Given the description of an element on the screen output the (x, y) to click on. 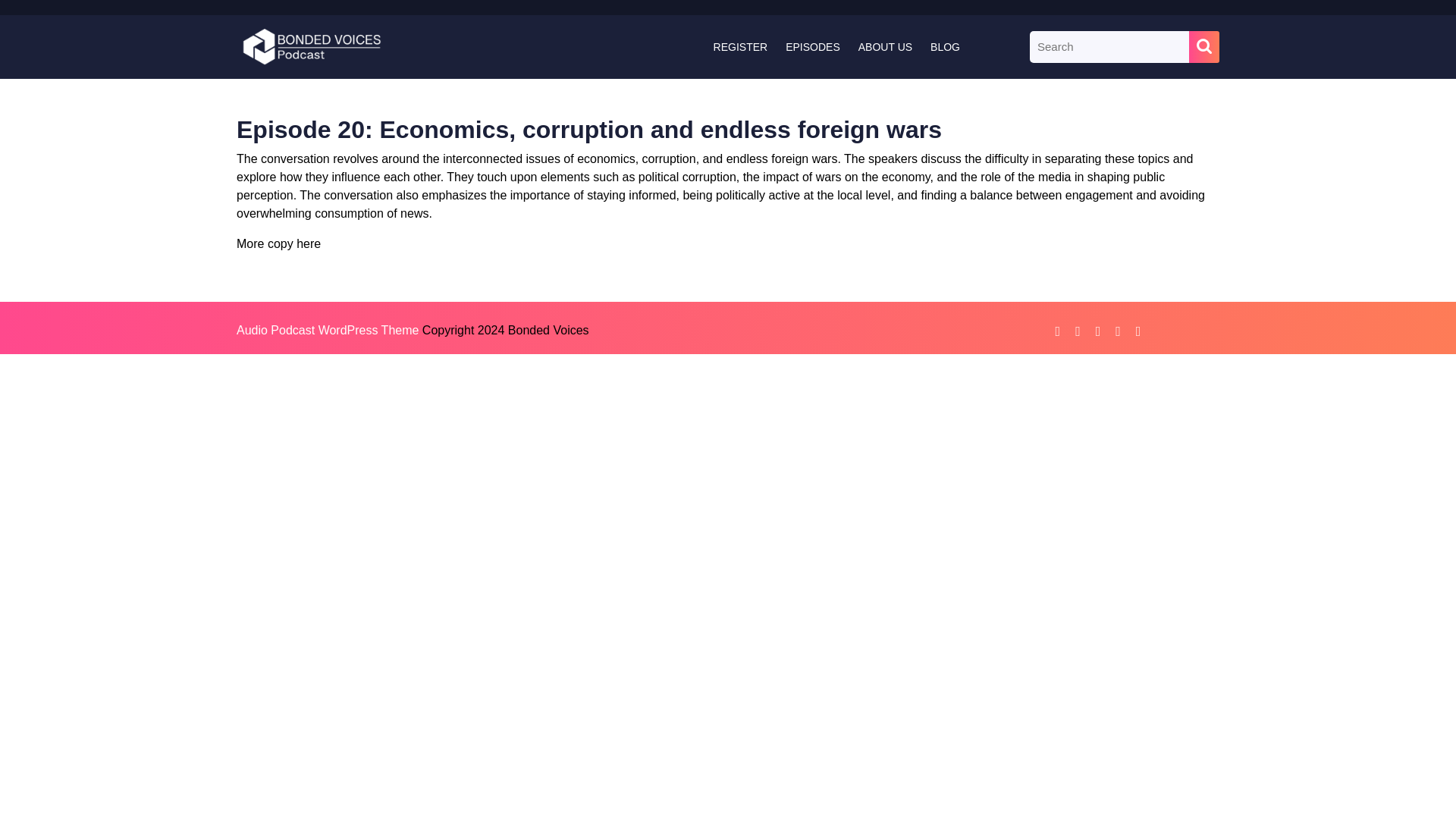
BLOG (945, 47)
Audio Podcast WordPress Theme (327, 329)
ABOUT US (884, 47)
SEARCH (1204, 47)
EPISODES (812, 47)
REGISTER (740, 47)
SEARCH (1204, 47)
SEARCH (1204, 47)
